Given the description of an element on the screen output the (x, y) to click on. 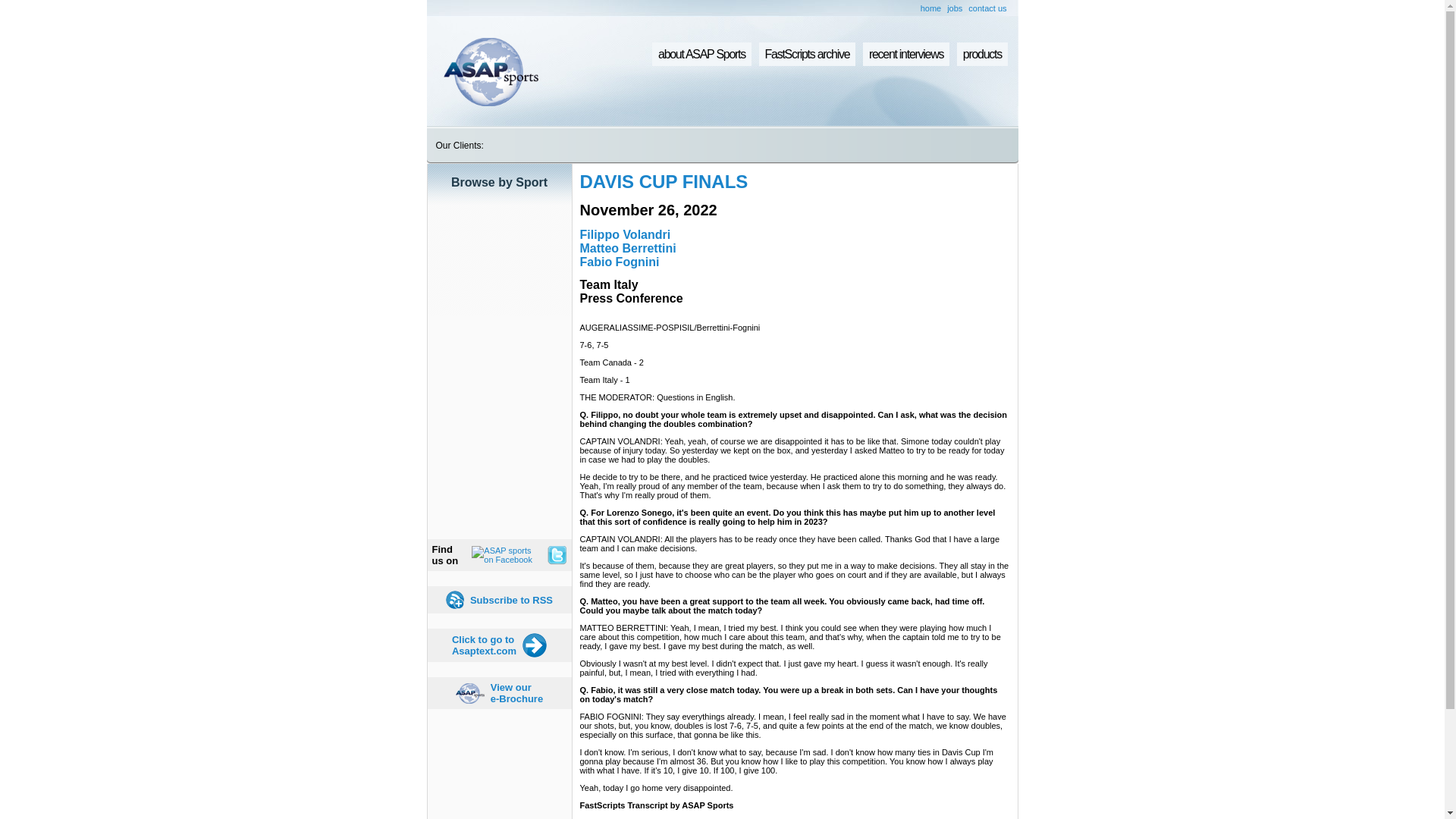
contact us (987, 8)
Matteo Berrettini (627, 247)
about ASAP Sports (701, 54)
jobs (954, 8)
Filippo Volandri (624, 234)
DAVIS CUP FINALS (483, 644)
Subscribe to RSS (663, 181)
products (511, 600)
FastScripts archive (981, 54)
recent interviews (807, 54)
Fabio Fognini (516, 692)
home (906, 54)
